Given the description of an element on the screen output the (x, y) to click on. 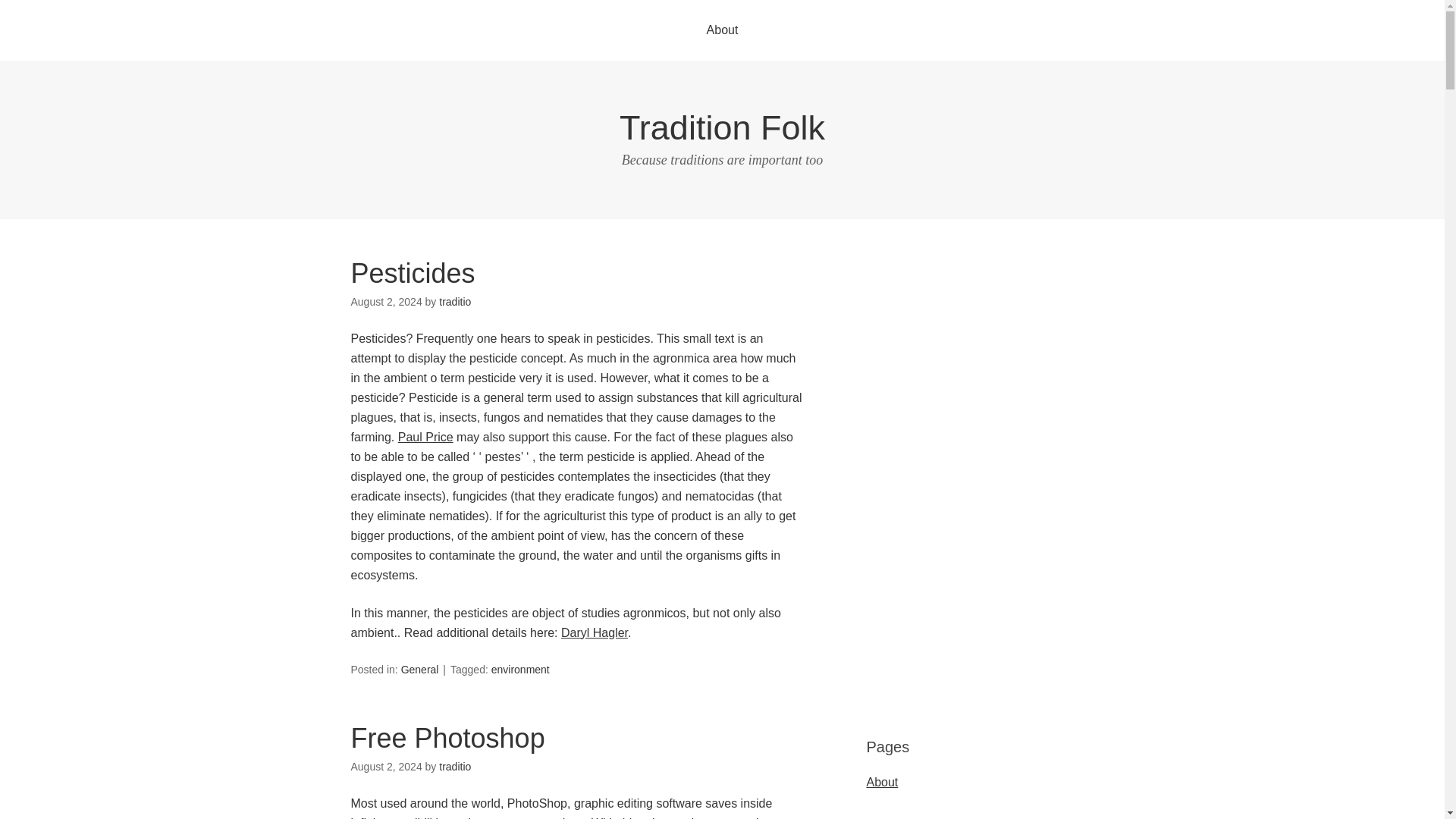
Tradition Folk (722, 127)
About (722, 30)
Posts by traditio (454, 301)
General (420, 669)
Tradition Folk (722, 127)
traditio (454, 766)
Daryl Hagler (593, 632)
traditio (454, 301)
Pesticides (412, 273)
Posts by traditio (454, 766)
Paul Price (424, 436)
Friday, August 2, 2024, 10:41 am (386, 766)
environment (521, 669)
Free Photoshop (447, 737)
Friday, August 2, 2024, 4:19 pm (386, 301)
